Given the description of an element on the screen output the (x, y) to click on. 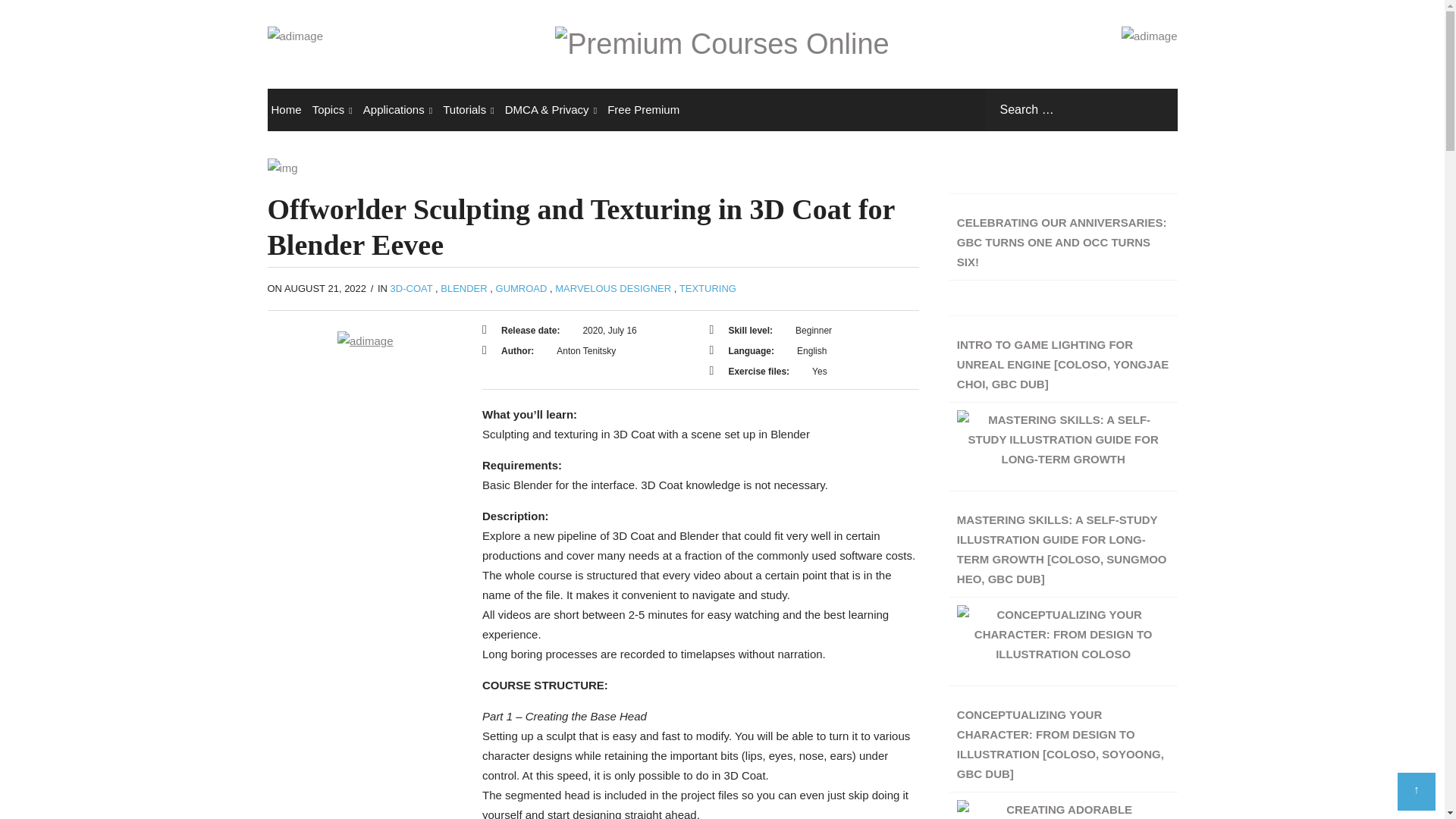
Home (285, 109)
Search (1155, 109)
Search (1155, 109)
Premium Courses Online (721, 43)
Topics (332, 109)
Applications (397, 109)
